Given the description of an element on the screen output the (x, y) to click on. 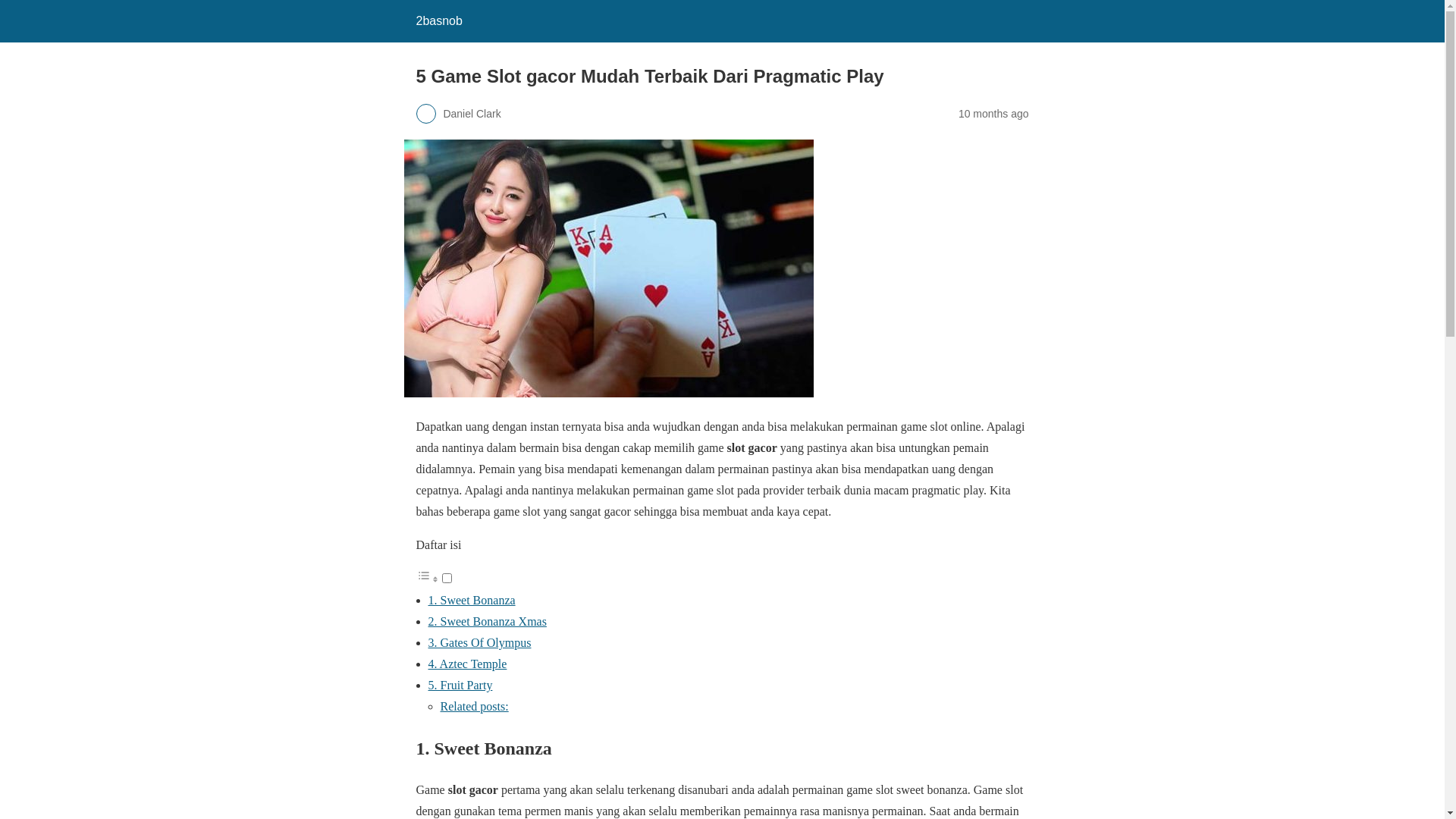
3. Gates Of Olympus Element type: text (478, 642)
1. Sweet Bonanza Element type: text (470, 599)
2. Sweet Bonanza Xmas Element type: text (486, 621)
Related posts: Element type: text (473, 705)
5 Game Slot gacor Mudah Terbaik Dari Pragmatic Play Element type: hover (607, 268)
4. Aztec Temple Element type: text (466, 663)
5. Fruit Party Element type: text (459, 684)
2basnob Element type: text (438, 20)
